Given the description of an element on the screen output the (x, y) to click on. 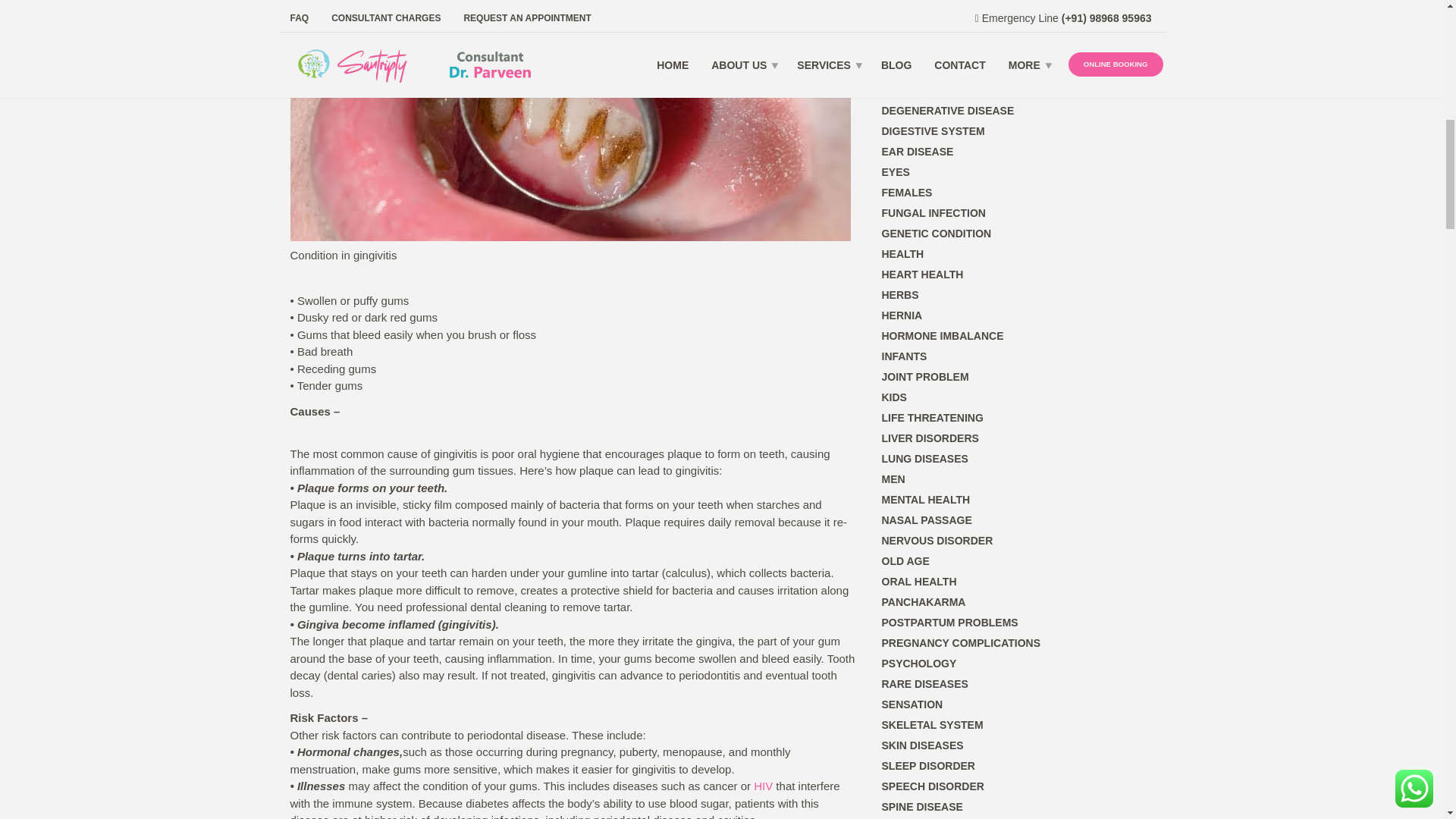
HIV (763, 785)
